Given the description of an element on the screen output the (x, y) to click on. 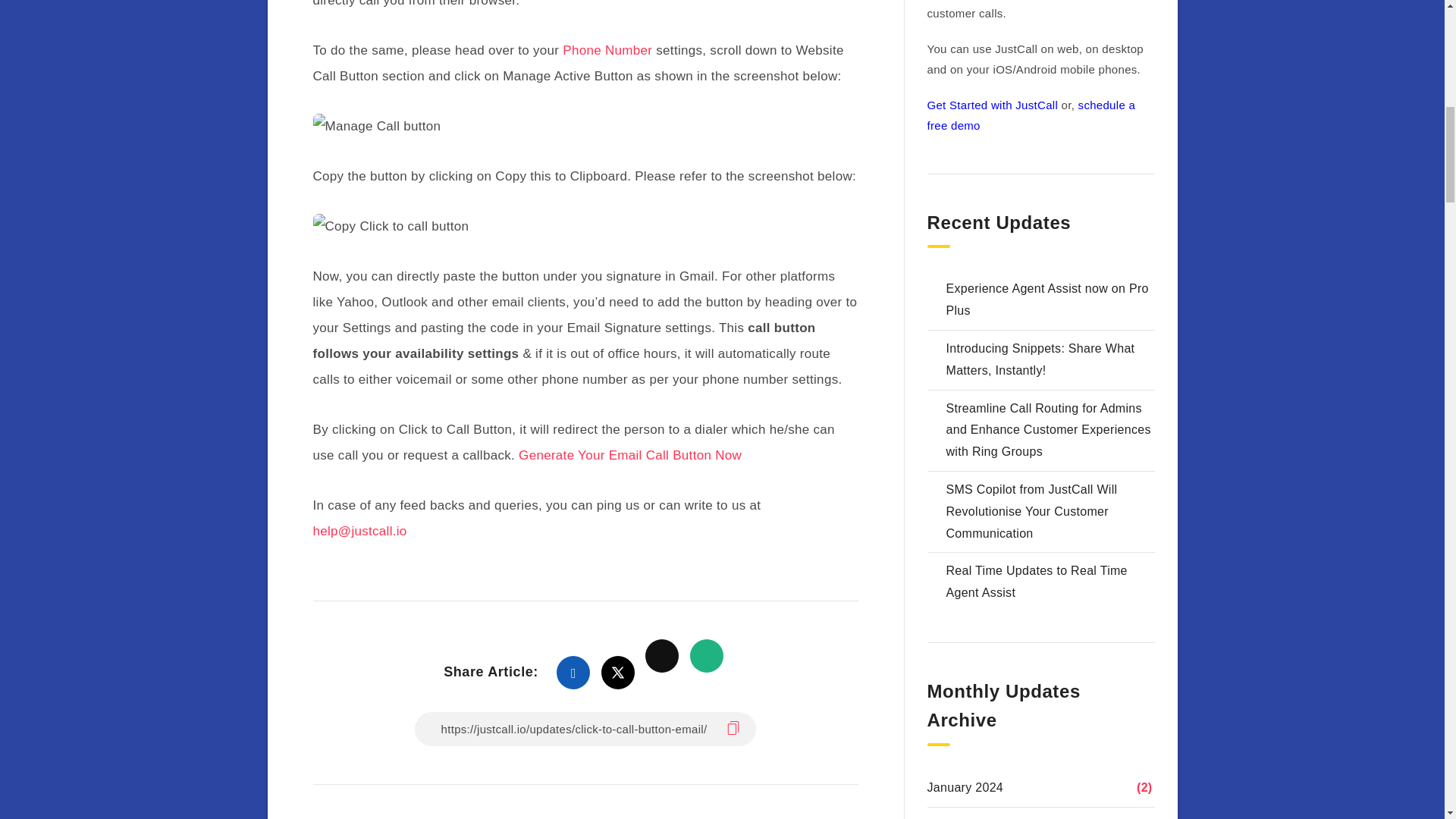
Click To Call Button (377, 126)
Generate Your Email Call Button Now (629, 454)
Phone Number (607, 50)
